Given the description of an element on the screen output the (x, y) to click on. 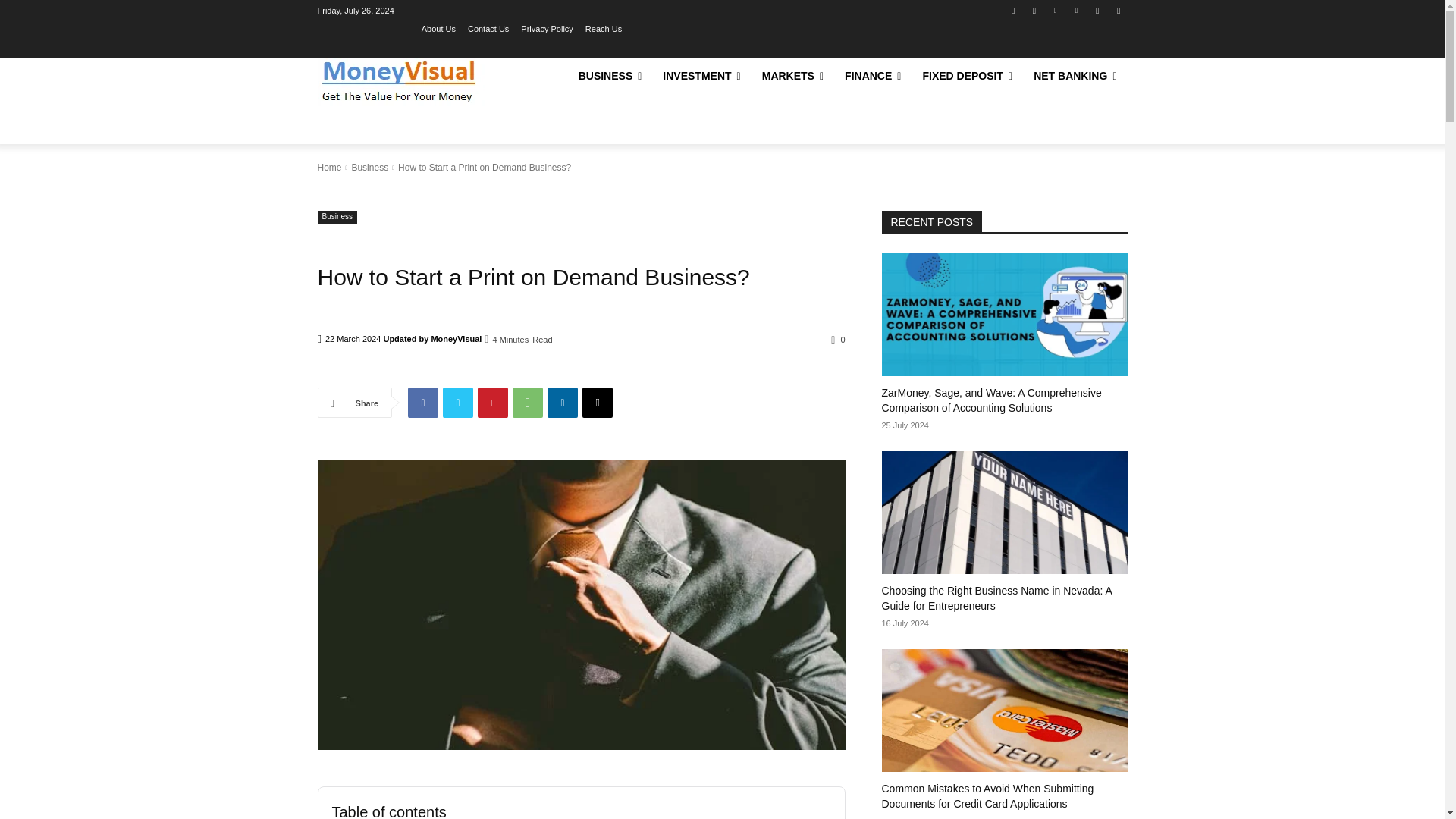
About Us (438, 28)
Facebook (422, 402)
Facebook (1013, 9)
Pinterest (492, 402)
View all posts in Business (369, 167)
WhatsApp (527, 402)
Twitter (1097, 9)
Email (597, 402)
Youtube (1117, 9)
Linkedin (562, 402)
Linkedin (1055, 9)
Twitter (457, 402)
Pinterest (1075, 9)
Instagram (1034, 9)
